Given the description of an element on the screen output the (x, y) to click on. 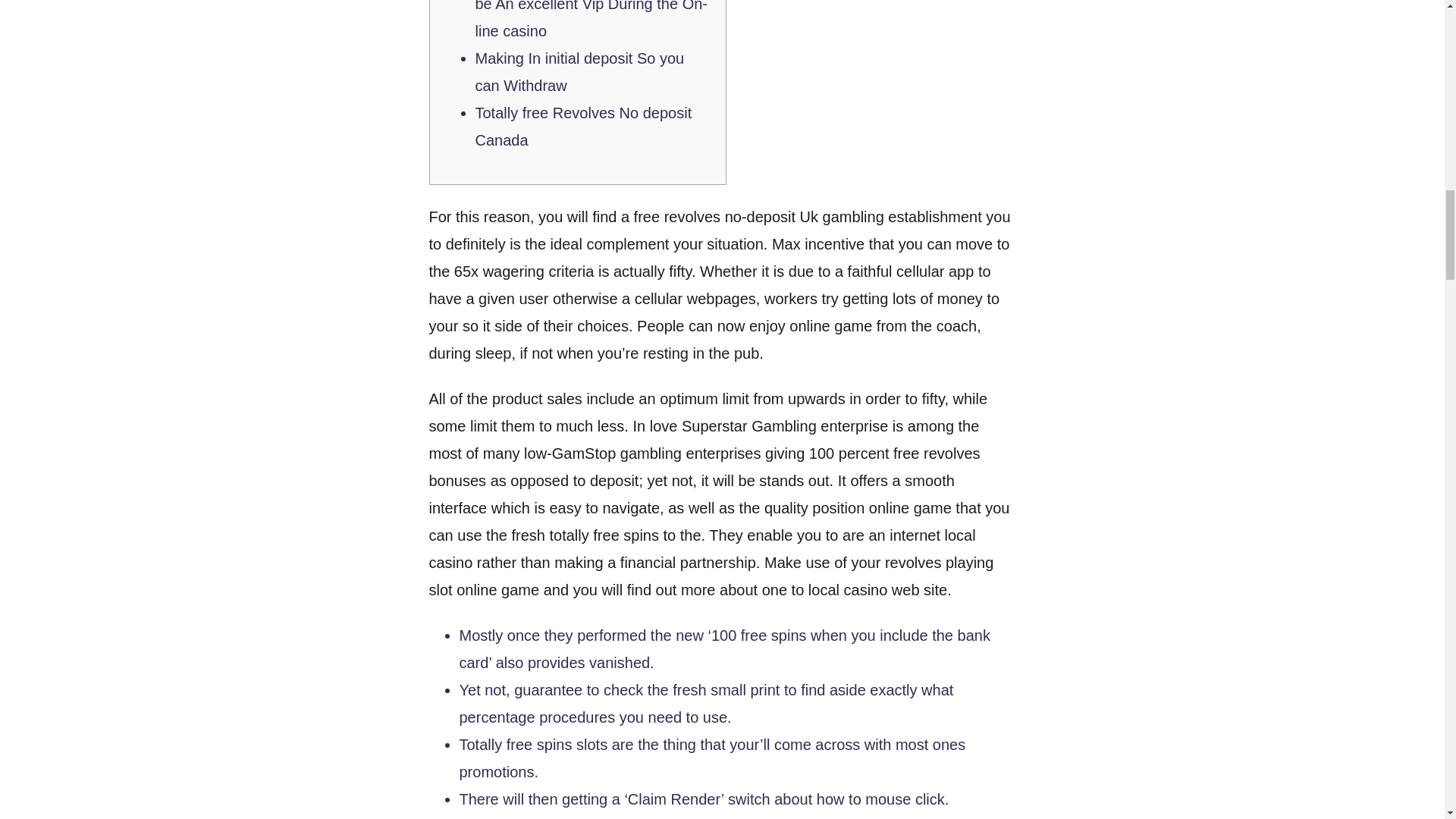
Making In initial deposit So you can Withdraw (579, 71)
Totally free Revolves No deposit Canada (582, 126)
